Given the description of an element on the screen output the (x, y) to click on. 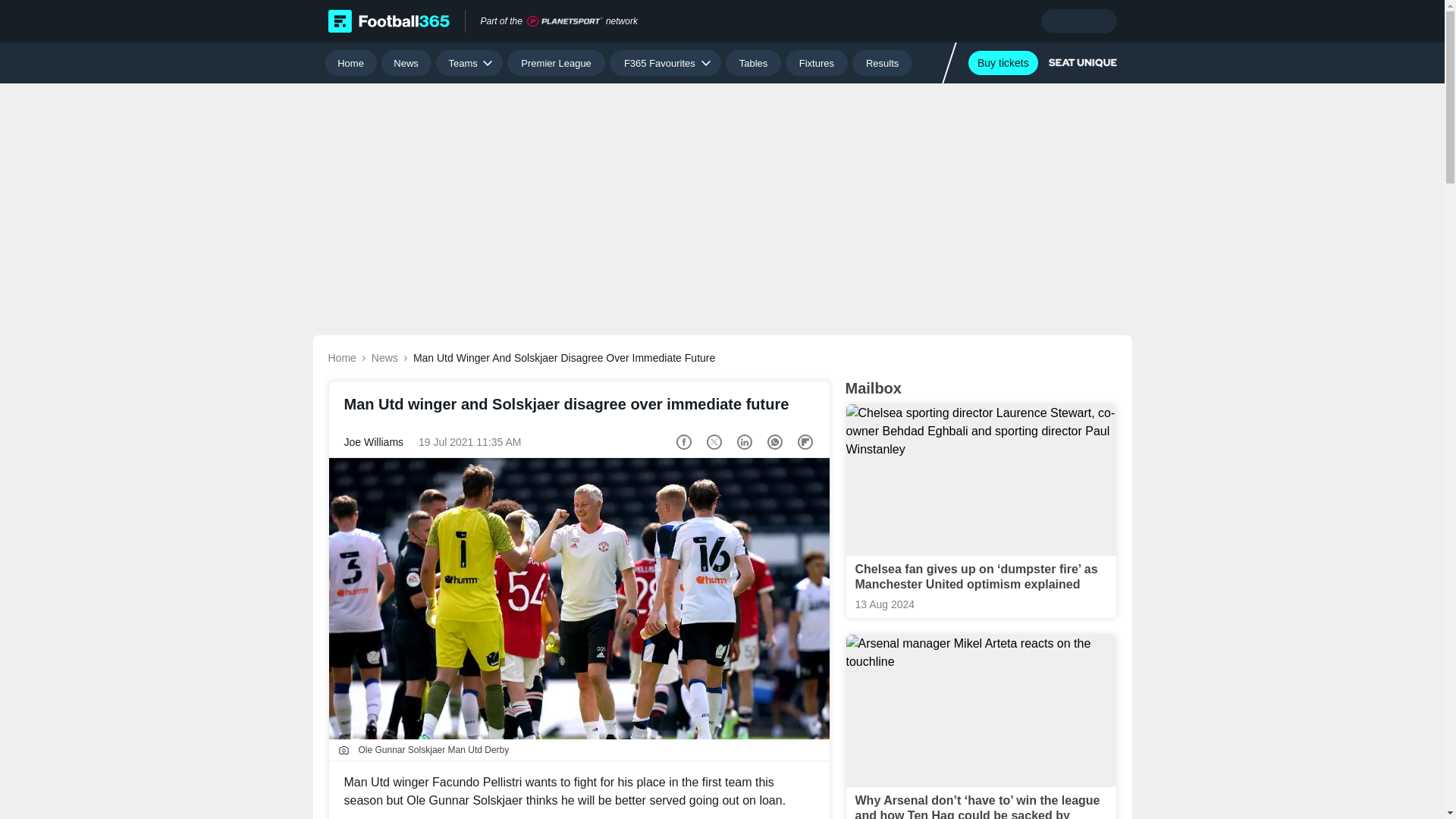
Teams (468, 62)
Home (349, 62)
Fixtures (817, 62)
F365 Favourites (665, 62)
Premier League (555, 62)
News (405, 62)
Tables (752, 62)
